Given the description of an element on the screen output the (x, y) to click on. 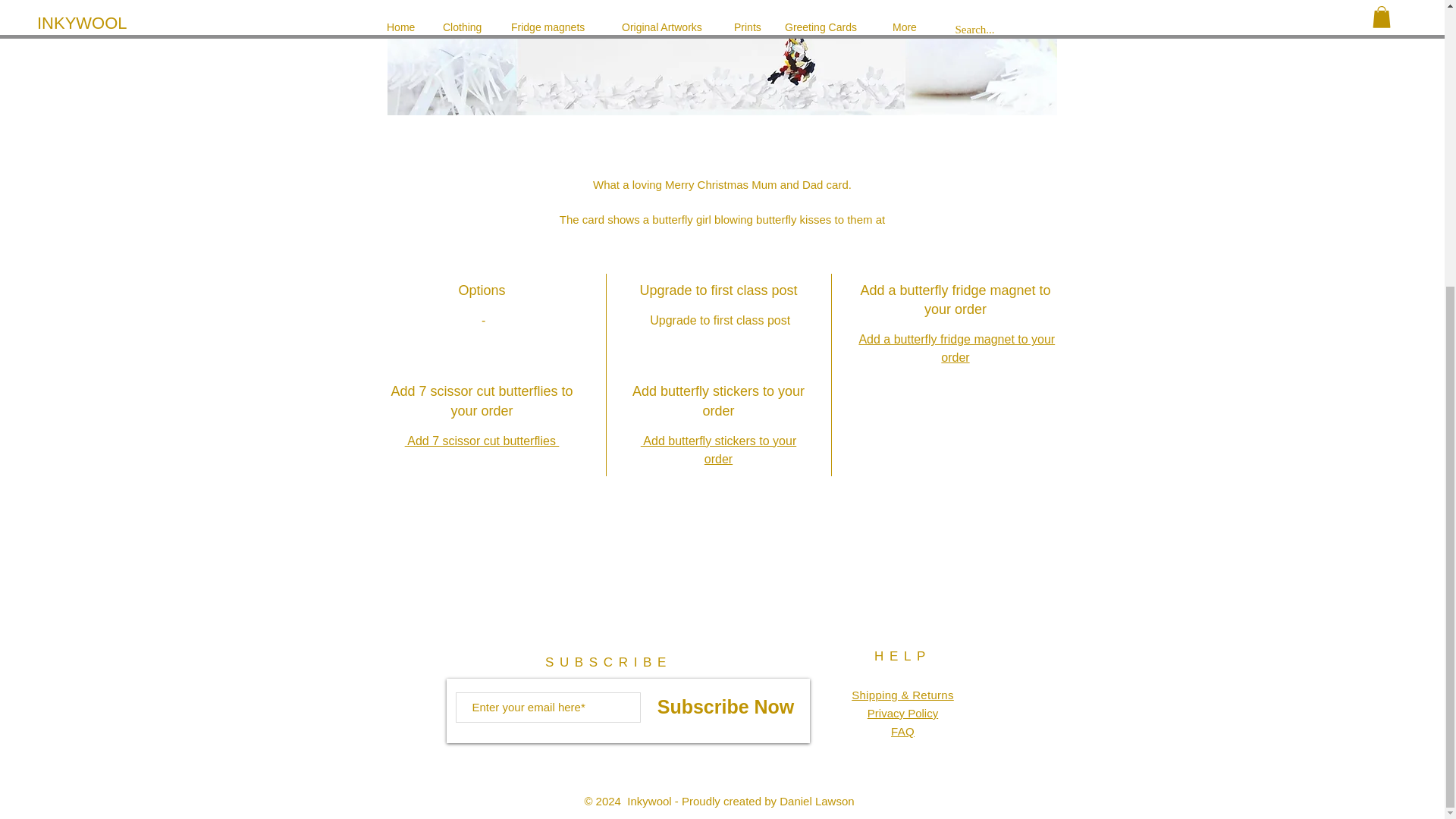
Add a butterfly fridge magnet to your order (956, 347)
